Given the description of an element on the screen output the (x, y) to click on. 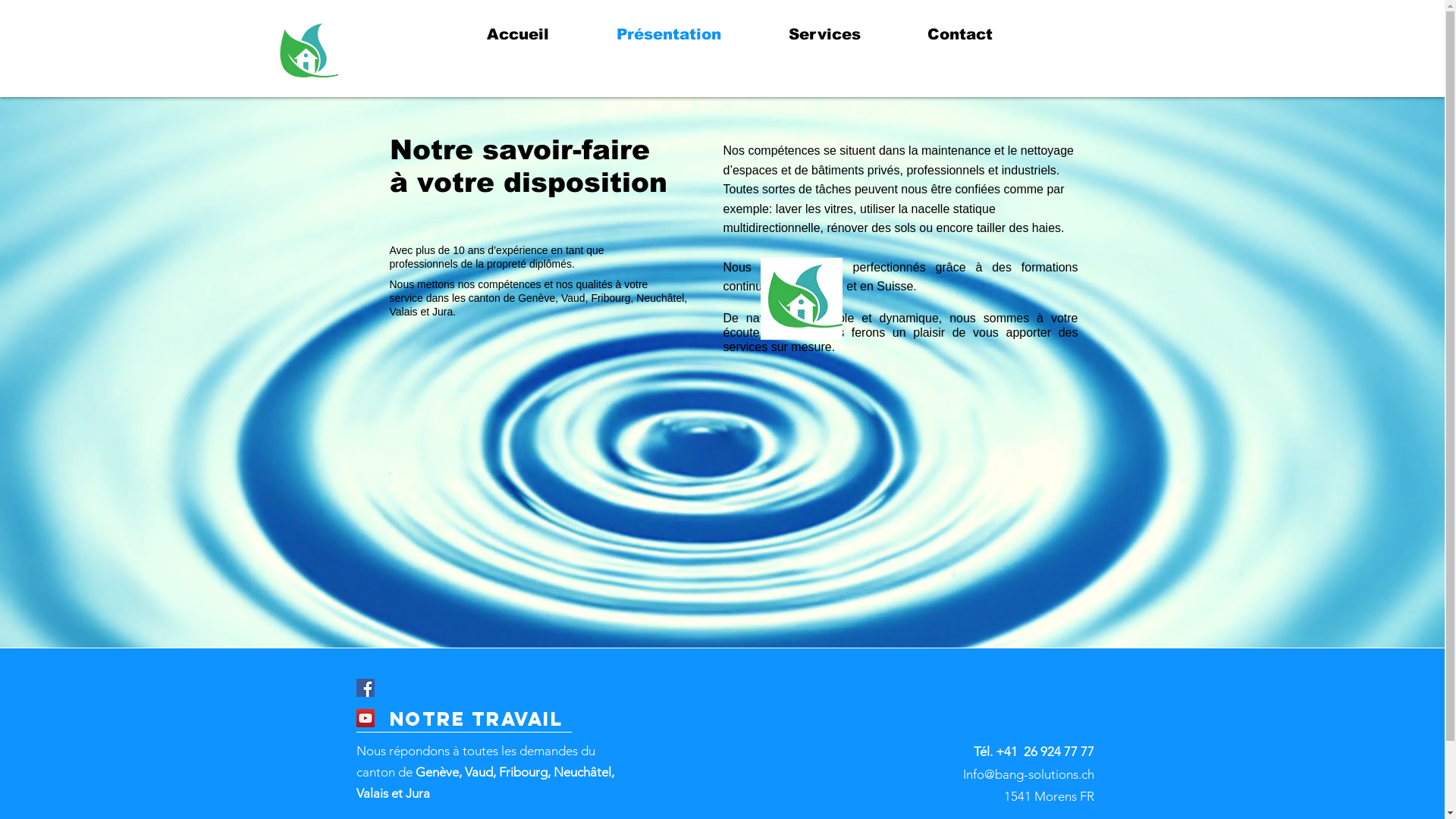
Info@bang-solutions.ch Element type: text (1028, 773)
400dpiLogo_edited.png Element type: hover (308, 49)
Accueil Element type: text (540, 34)
Contact Element type: text (982, 34)
Services Element type: text (846, 34)
